Given the description of an element on the screen output the (x, y) to click on. 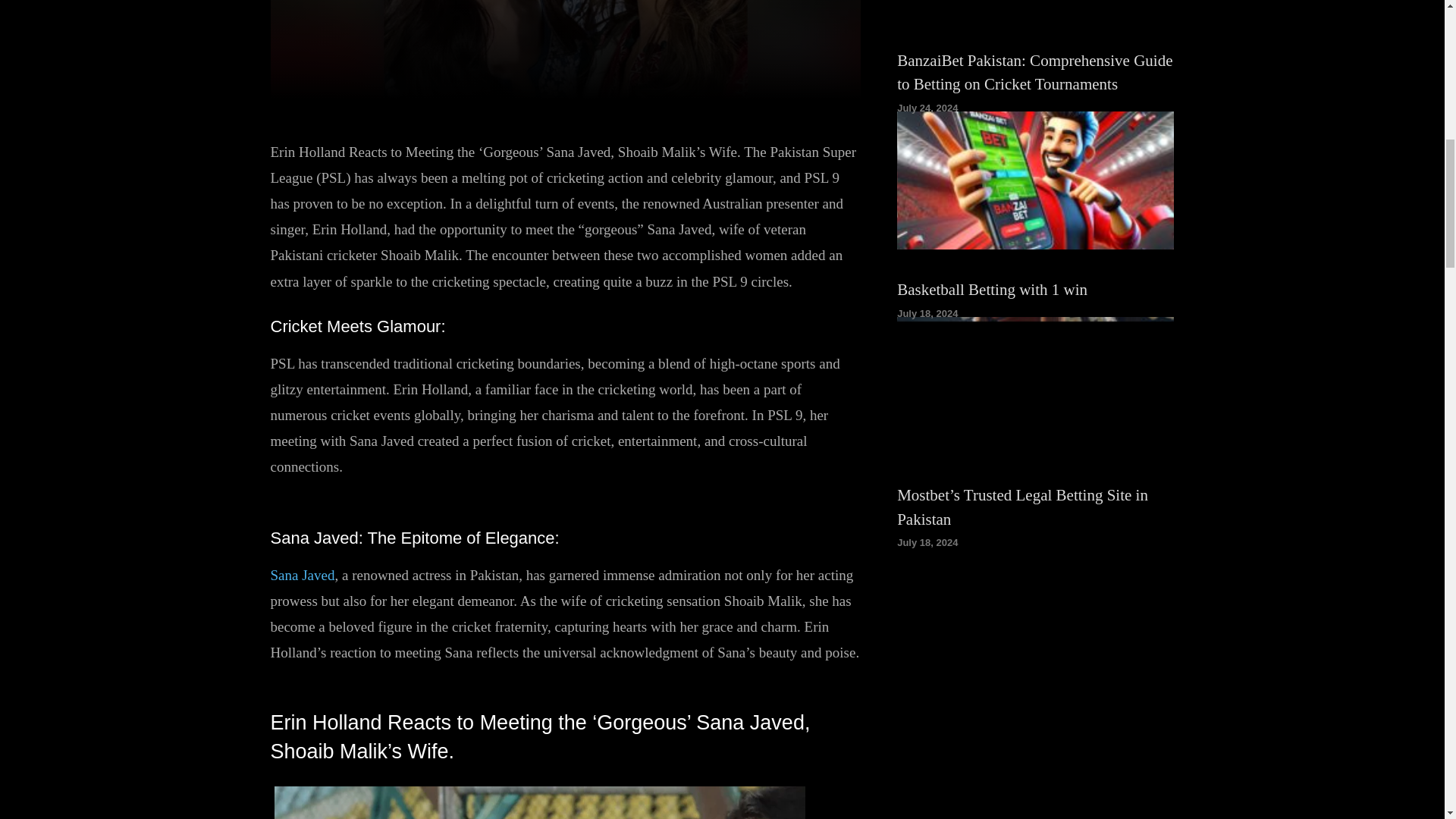
Basketball Betting with 1 win (991, 289)
Sana Javed (301, 575)
